Given the description of an element on the screen output the (x, y) to click on. 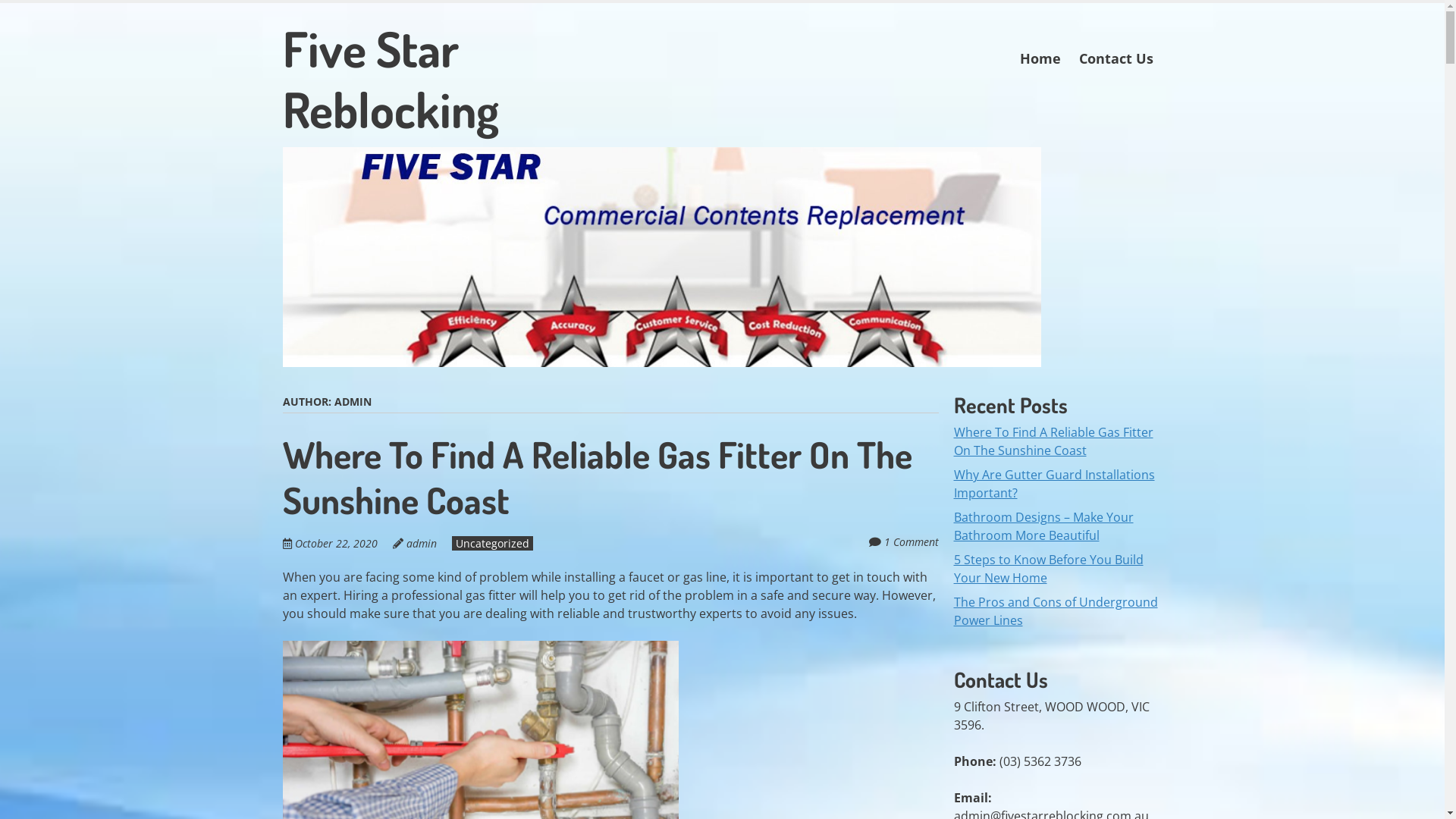
October 22, 2020 Element type: text (343, 543)
Home Element type: text (1039, 58)
The Pros and Cons of Underground Power Lines Element type: text (1055, 610)
admin Element type: text (421, 543)
Skip to content Element type: text (1053, 48)
Contact Us Element type: text (1115, 58)
Where To Find A Reliable Gas Fitter On The Sunshine Coast Element type: text (596, 476)
Five Star Reblocking Element type: text (453, 78)
Where To Find A Reliable Gas Fitter On The Sunshine Coast Element type: text (1053, 440)
Why Are Gutter Guard Installations Important? Element type: text (1053, 483)
Uncategorized Element type: text (492, 543)
5 Steps to Know Before You Build Your New Home Element type: text (1048, 568)
1 Comment Element type: text (911, 541)
